Given the description of an element on the screen output the (x, y) to click on. 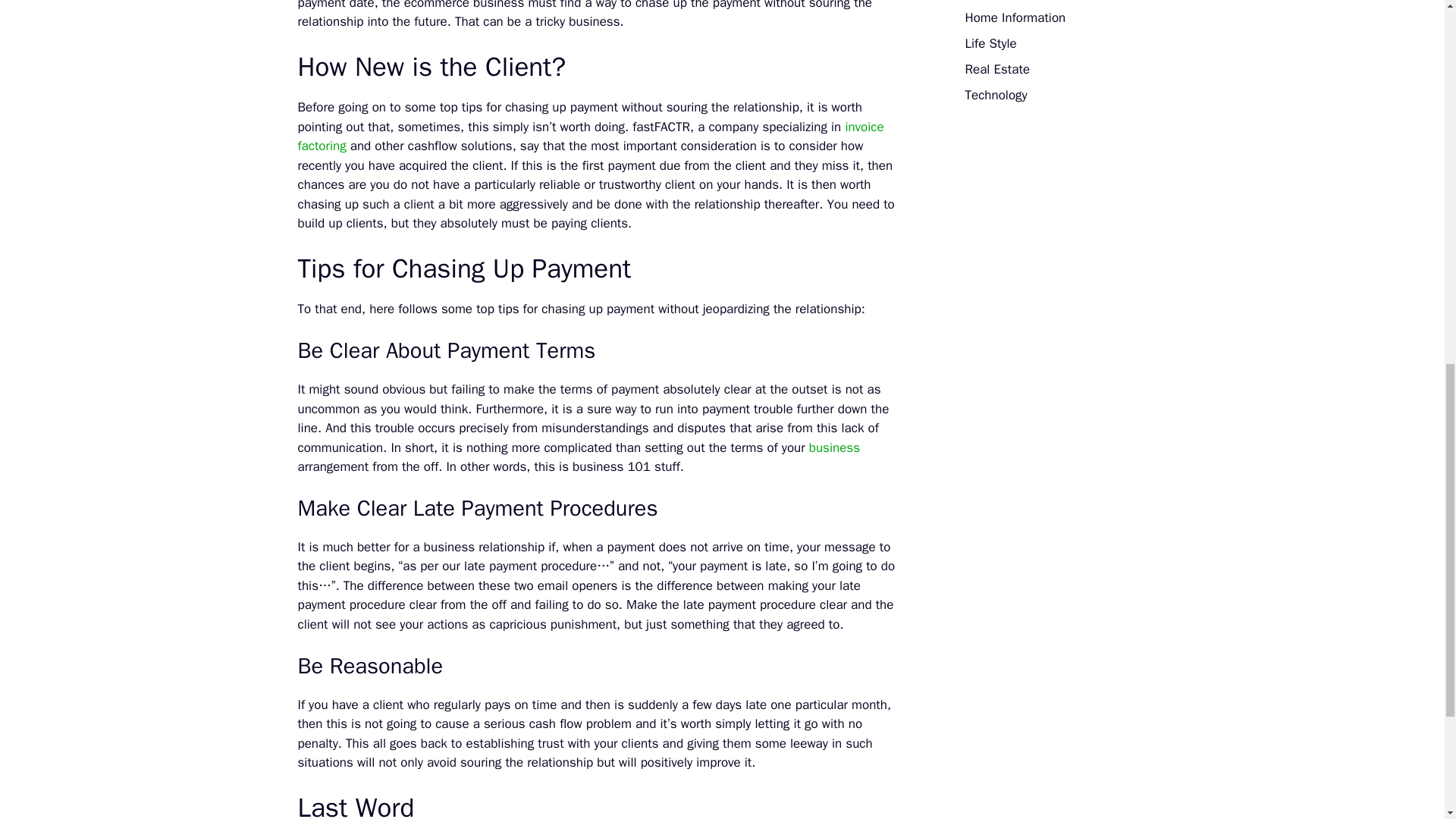
Scroll back to top (1406, 720)
Technology (994, 94)
invoice factoring (590, 136)
Real Estate (996, 68)
Home Information (1014, 17)
Life Style (989, 43)
business (834, 447)
